Given the description of an element on the screen output the (x, y) to click on. 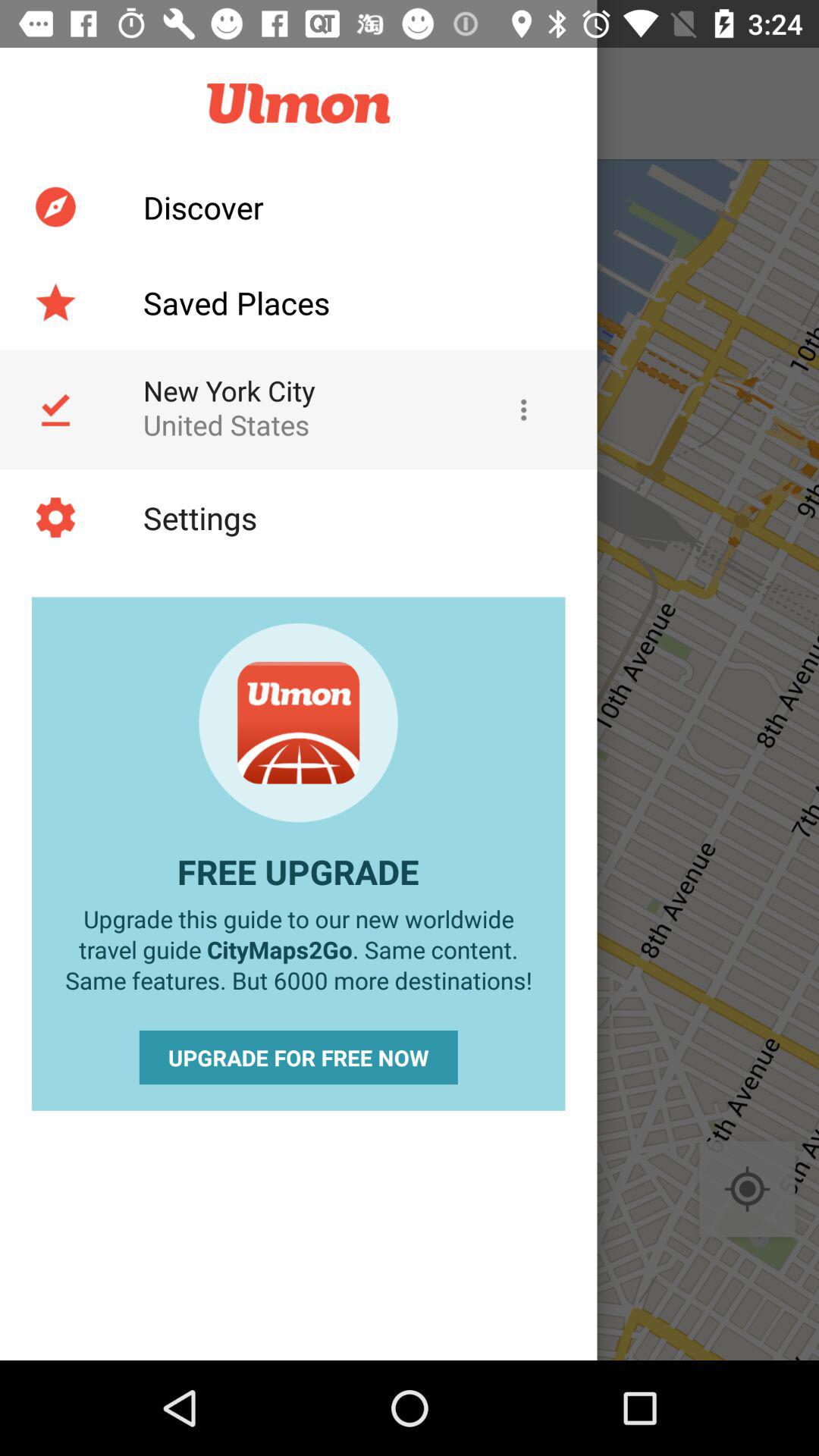
click on the icon beside discover (55, 207)
